Given the description of an element on the screen output the (x, y) to click on. 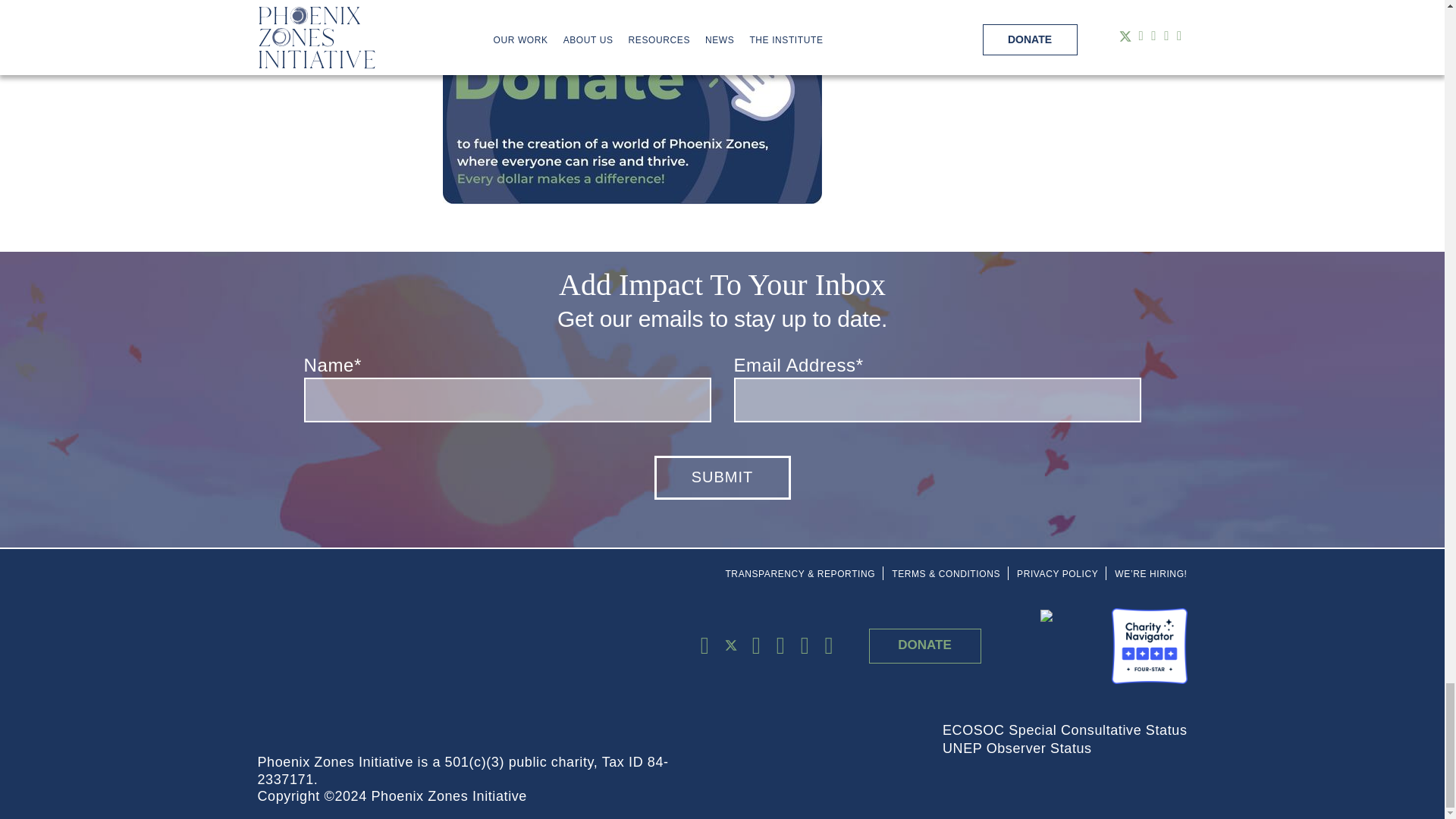
Submit (721, 477)
Submit (721, 477)
